Given the description of an element on the screen output the (x, y) to click on. 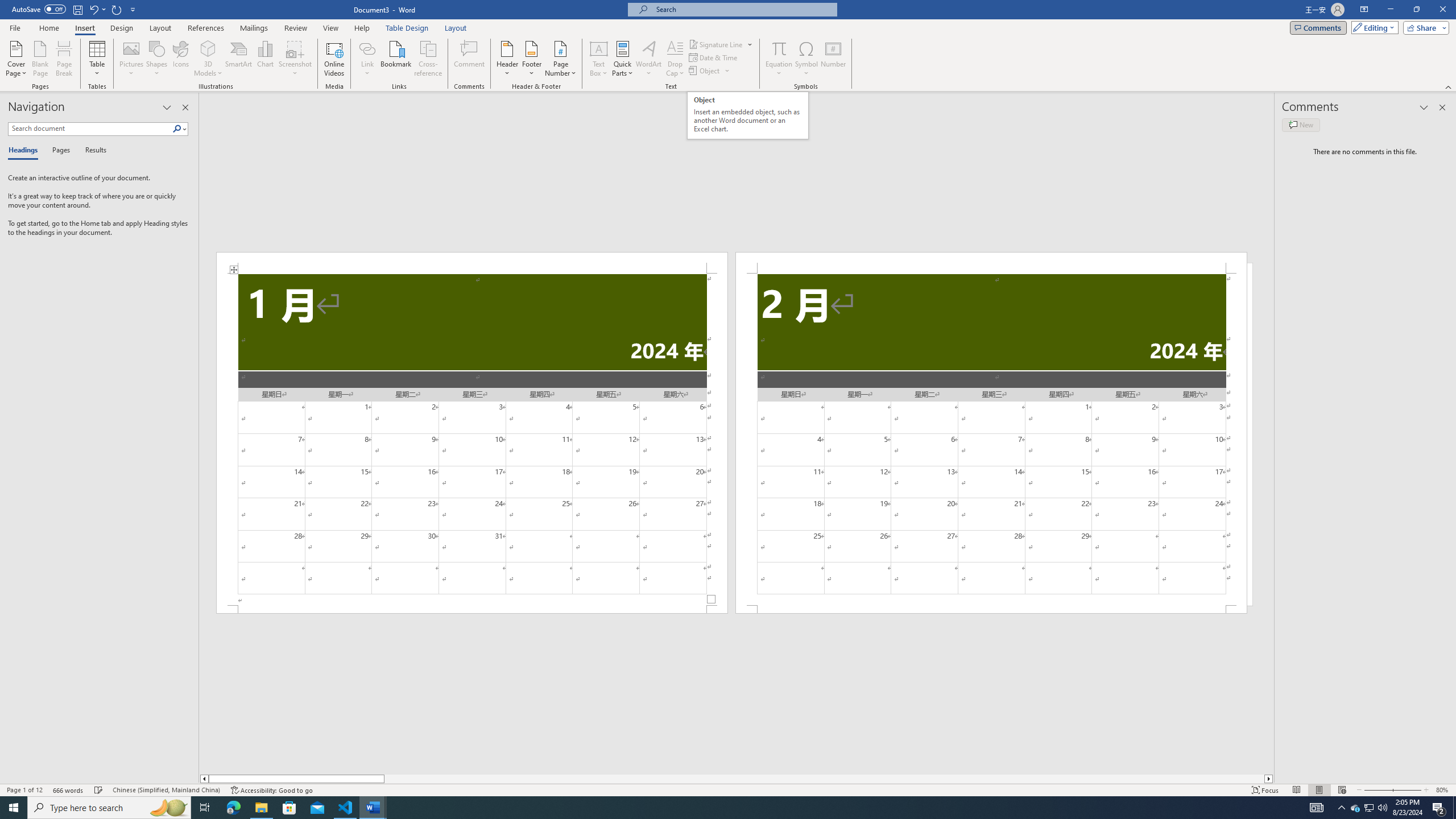
Page 1 content (471, 439)
Signature Line (716, 44)
Equation (778, 48)
New comment (1300, 124)
Word Count 666 words (68, 790)
Link (367, 58)
Object... (705, 69)
Header -Section 1- (471, 263)
Blank Page (40, 58)
Pictures (131, 58)
Object... (709, 69)
Footer -Section 1- (471, 609)
